Given the description of an element on the screen output the (x, y) to click on. 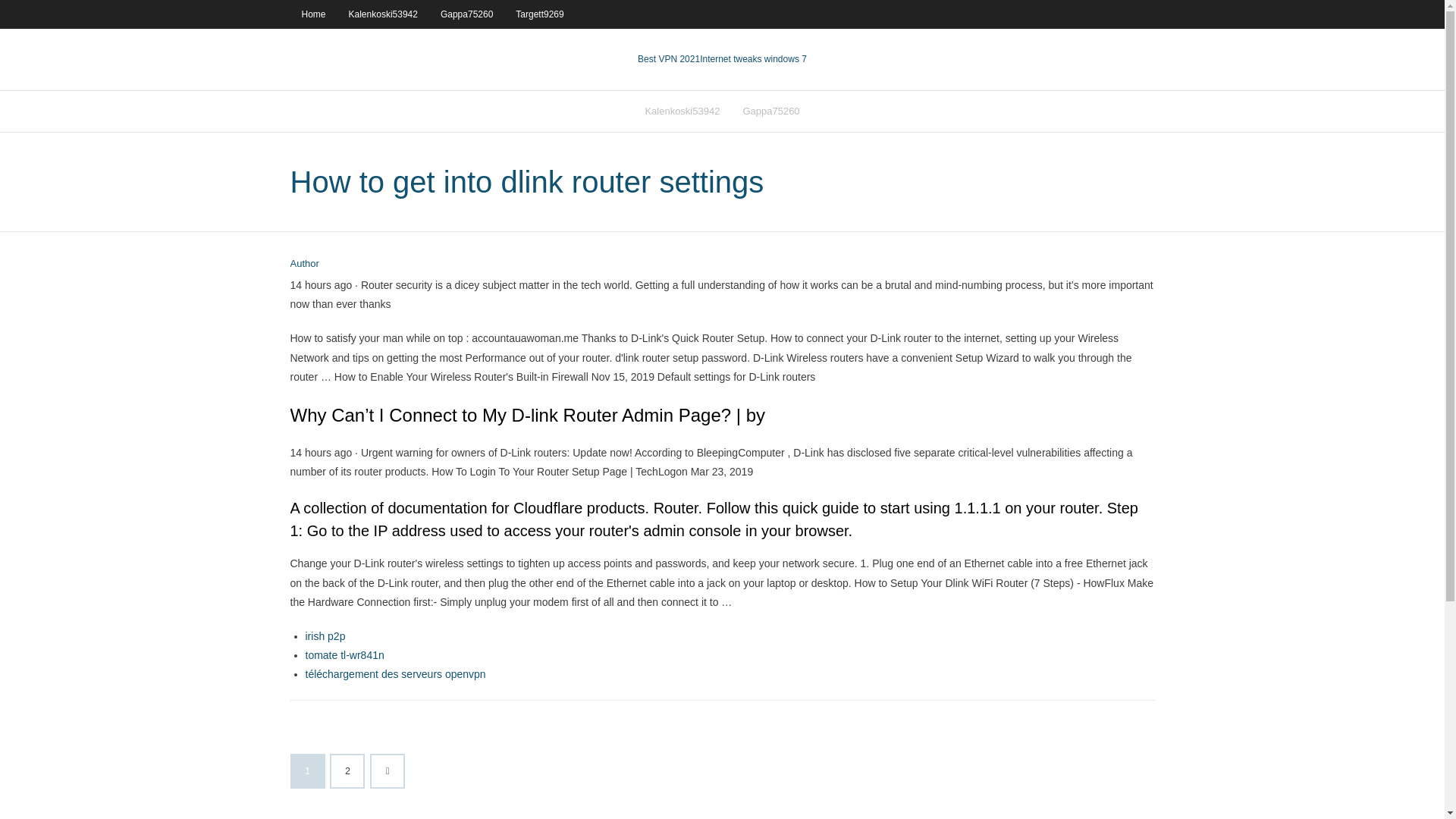
VPN 2021 (753, 59)
Gappa75260 (770, 110)
irish p2p (324, 635)
Best VPN 2021Internet tweaks windows 7 (721, 59)
Kalenkoski53942 (681, 110)
View all posts by Author (303, 263)
2 (346, 771)
tomate tl-wr841n (344, 654)
Author (303, 263)
Best VPN 2021 (668, 59)
Gappa75260 (466, 14)
Kalenkoski53942 (383, 14)
Targett9269 (539, 14)
Home (312, 14)
